Given the description of an element on the screen output the (x, y) to click on. 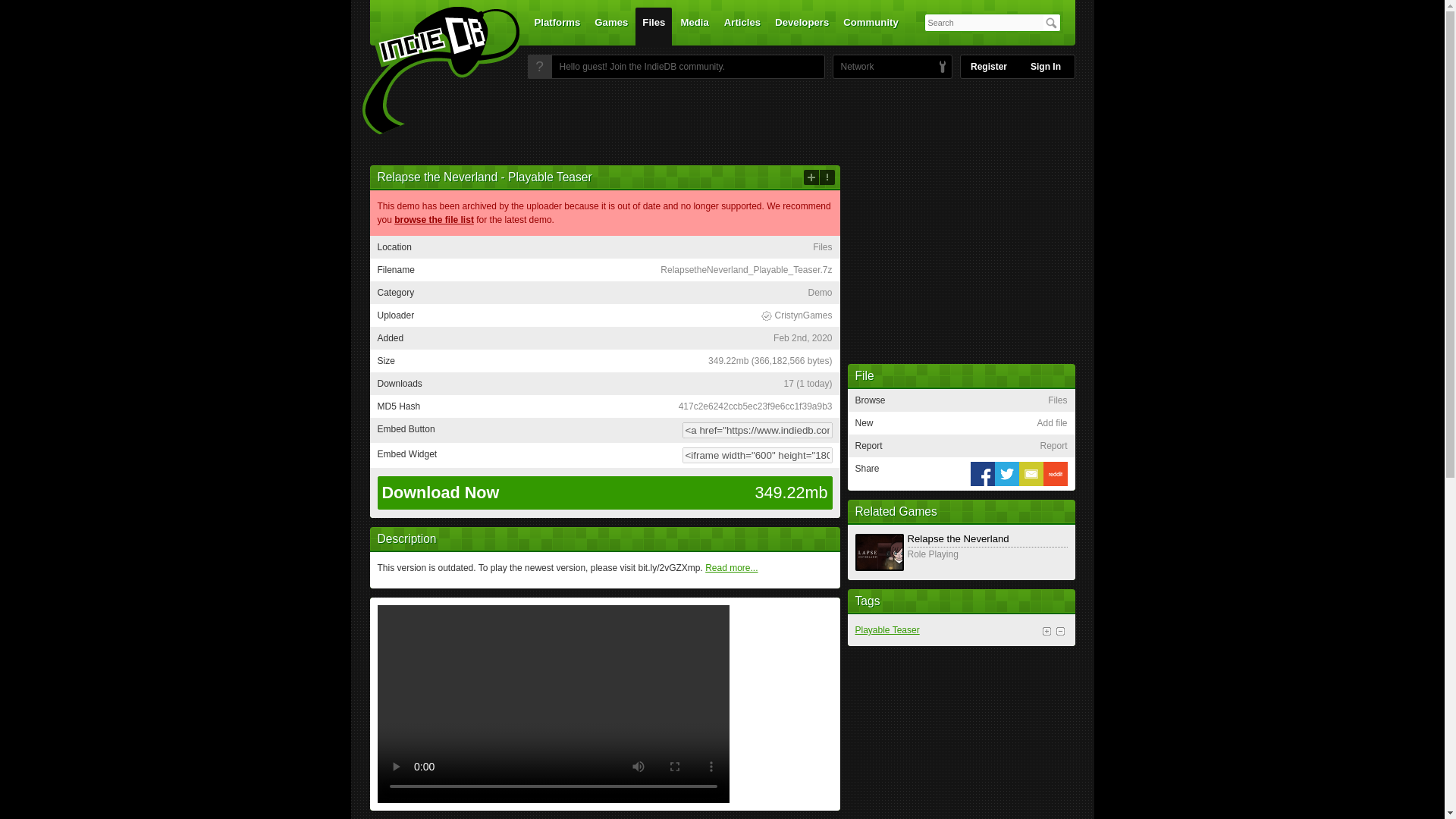
Home (430, 70)
Download Manager (795, 315)
Relapse the Neverland - Playable Teaser Statistics (807, 383)
Join IndieDB (539, 66)
Community (870, 26)
3rd party ad content (721, 121)
Share the file using this HTML (604, 430)
Developers (801, 26)
Platforms (557, 26)
Report (826, 177)
Files (652, 26)
Articles (742, 26)
Games (611, 26)
Media (694, 26)
